Given the description of an element on the screen output the (x, y) to click on. 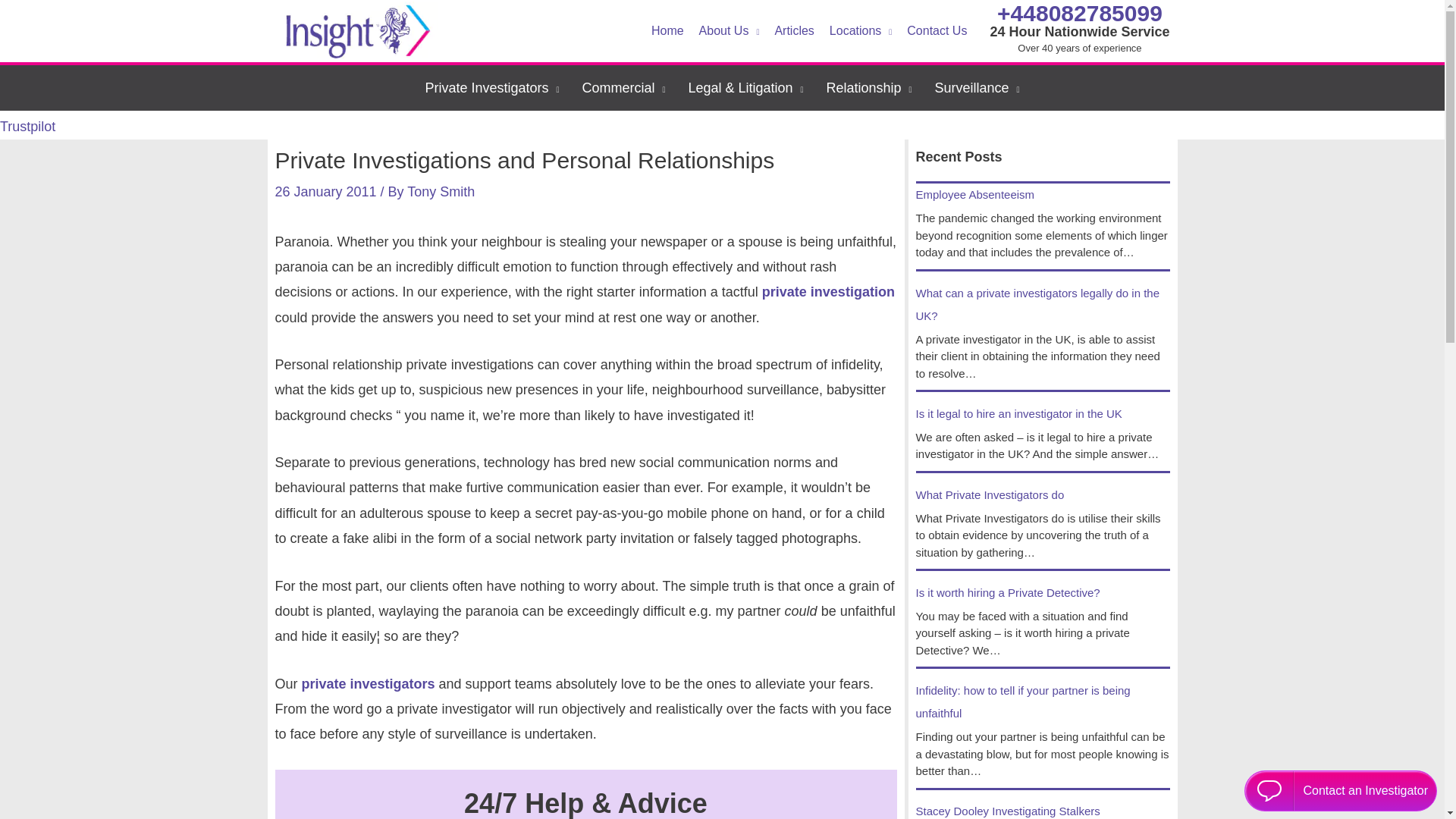
About Us (729, 31)
View all posts by Tony Smith (440, 191)
